Given the description of an element on the screen output the (x, y) to click on. 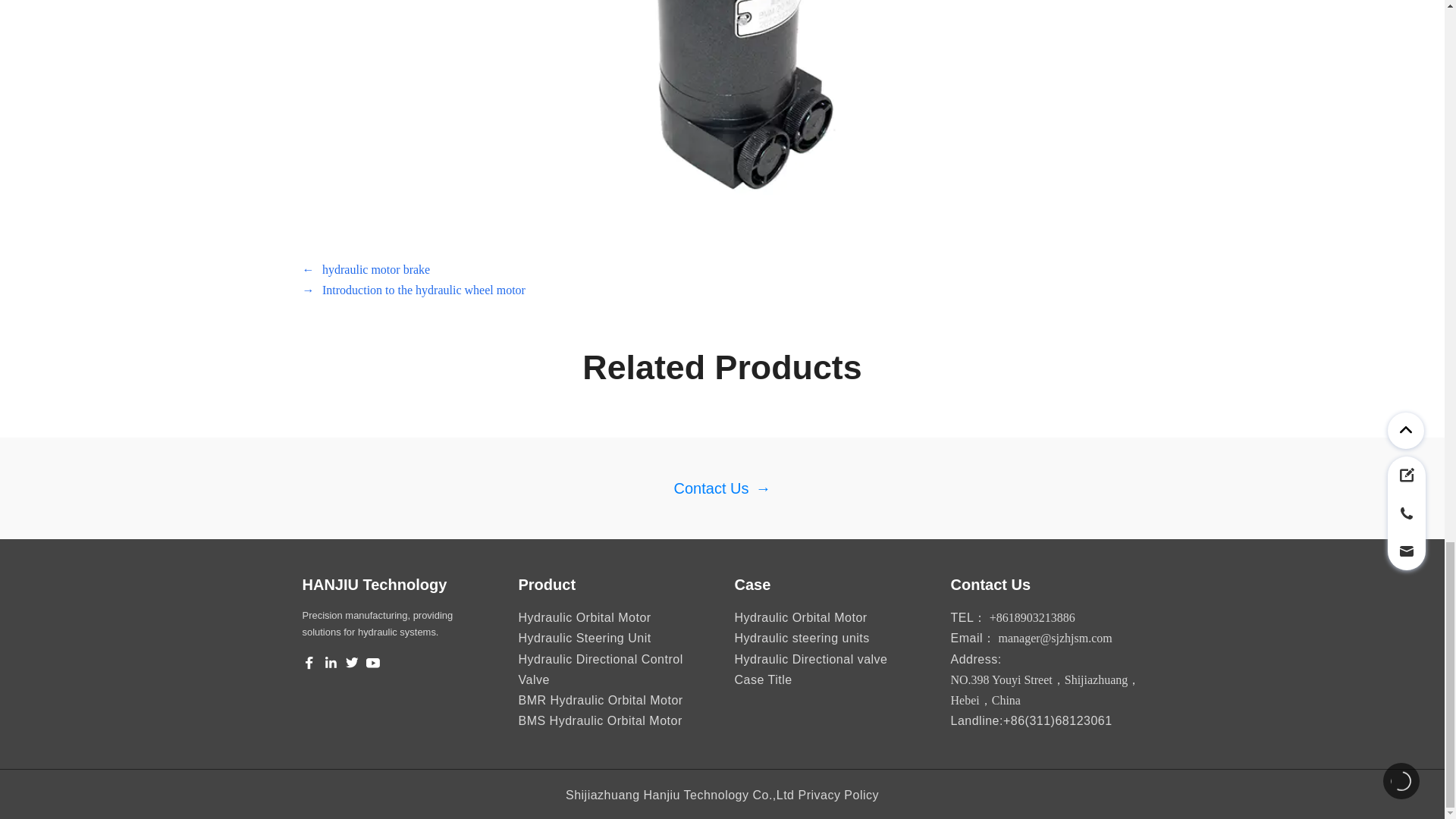
Hydraulic Orbital Motor (799, 617)
Hydraulic Steering Unit (584, 637)
BMS Hydraulic Orbital Motor (600, 720)
Case Title (762, 679)
hydraulic motor brake (375, 269)
Hydraulic Orbital Motor (584, 617)
Hydraulic steering units (801, 637)
BMR Hydraulic Orbital Motor (600, 699)
Introduction to the hydraulic wheel motor (423, 290)
Hydraulic Directional valve (809, 658)
